Given the description of an element on the screen output the (x, y) to click on. 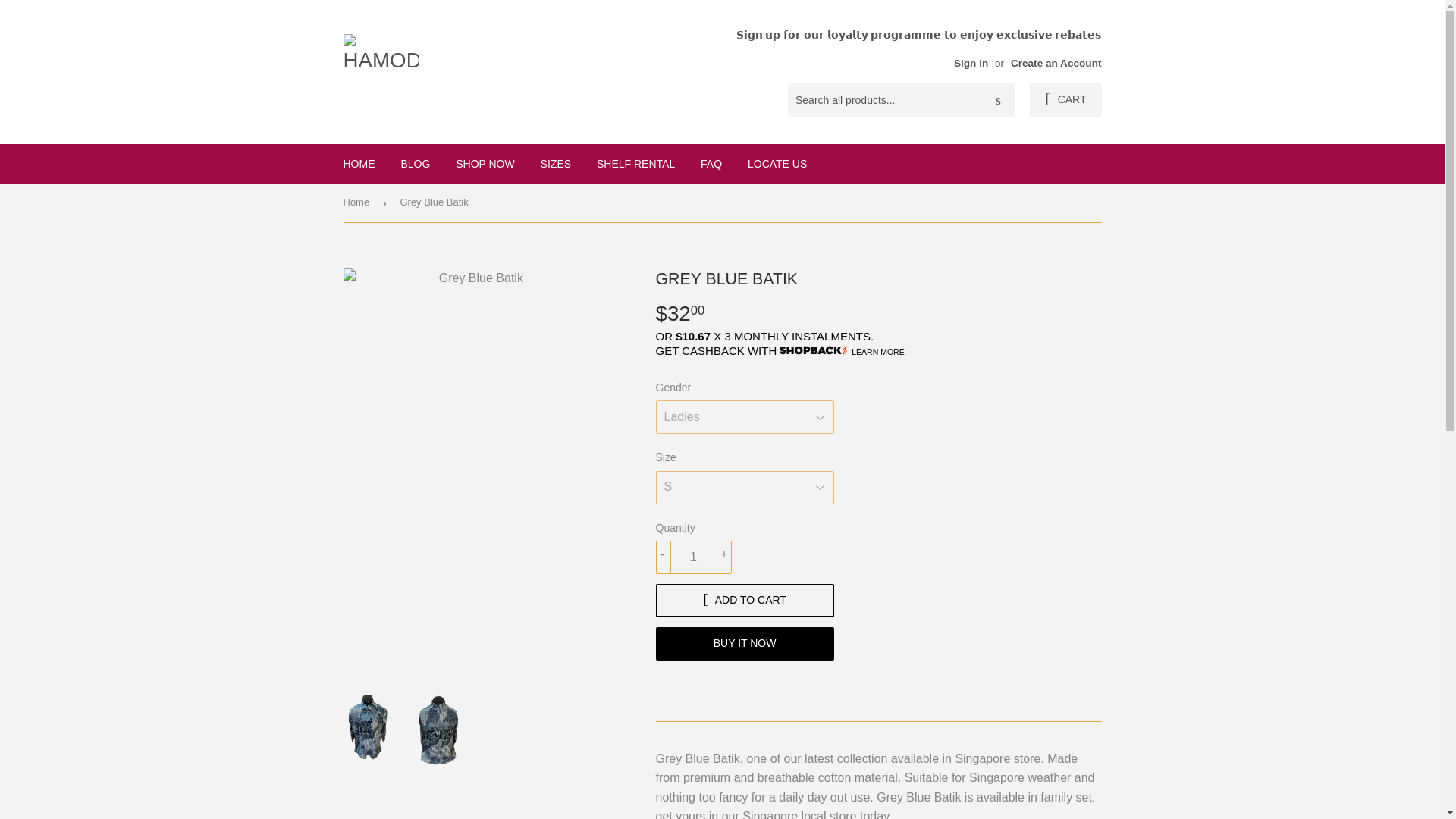
BUY IT NOW (743, 643)
HOME (359, 163)
FAQ (710, 163)
SHOP NOW (484, 163)
Search (997, 101)
1 (692, 557)
ADD TO CART (743, 600)
SIZES (555, 163)
Sign in (970, 62)
SHELF RENTAL (635, 163)
CART (1064, 100)
BLOG (414, 163)
LOCATE US (777, 163)
LEARN MORE (877, 351)
Create an Account (1056, 62)
